Given the description of an element on the screen output the (x, y) to click on. 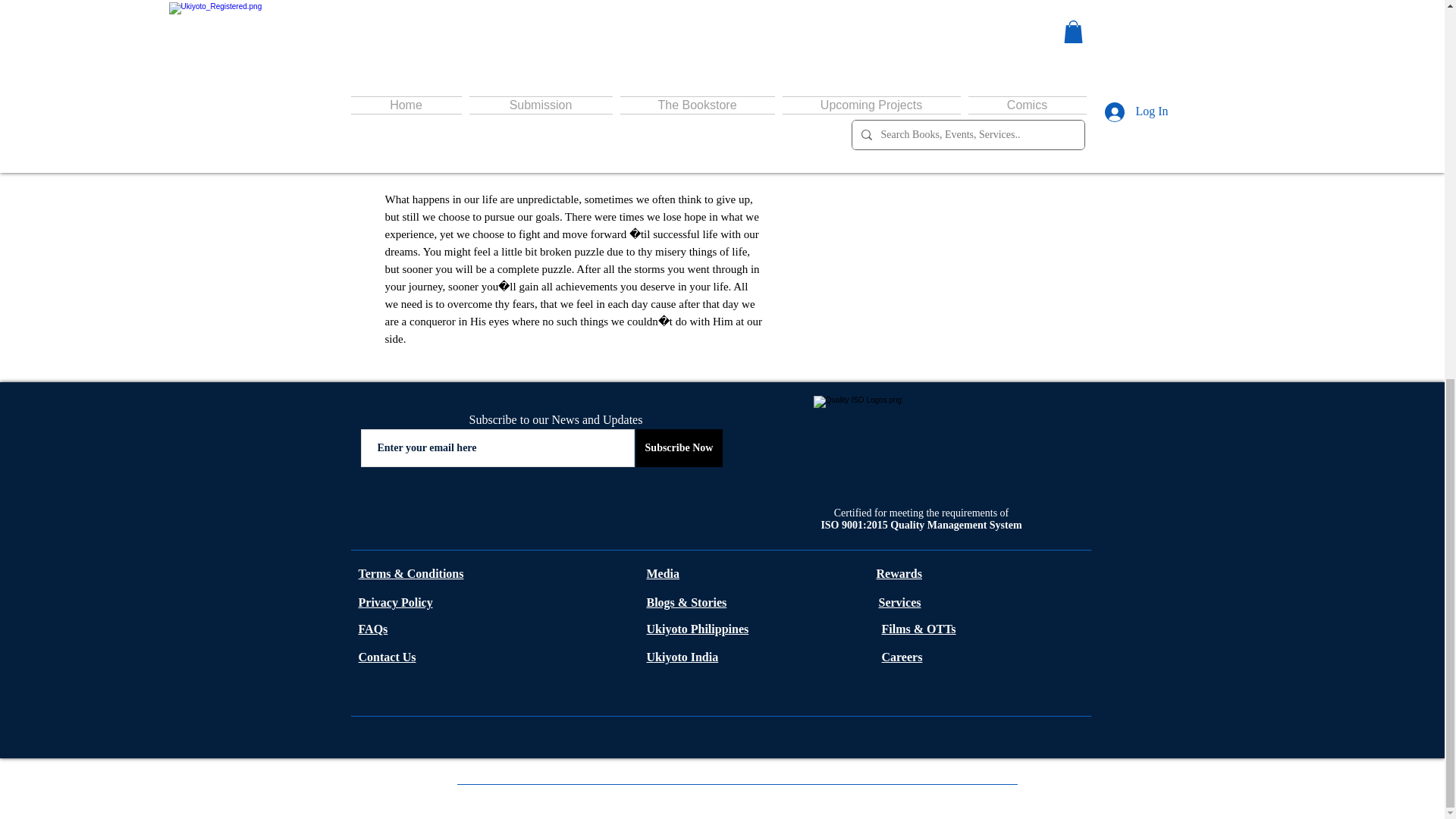
Services (898, 602)
FAQs (372, 628)
Careers (900, 656)
Ukiyoto Philippines (697, 628)
Subscribe Now (678, 447)
Media (662, 573)
Contact Us (386, 656)
Rewards (898, 573)
Ukiyoto India (681, 656)
Privacy Policy (395, 602)
